Given the description of an element on the screen output the (x, y) to click on. 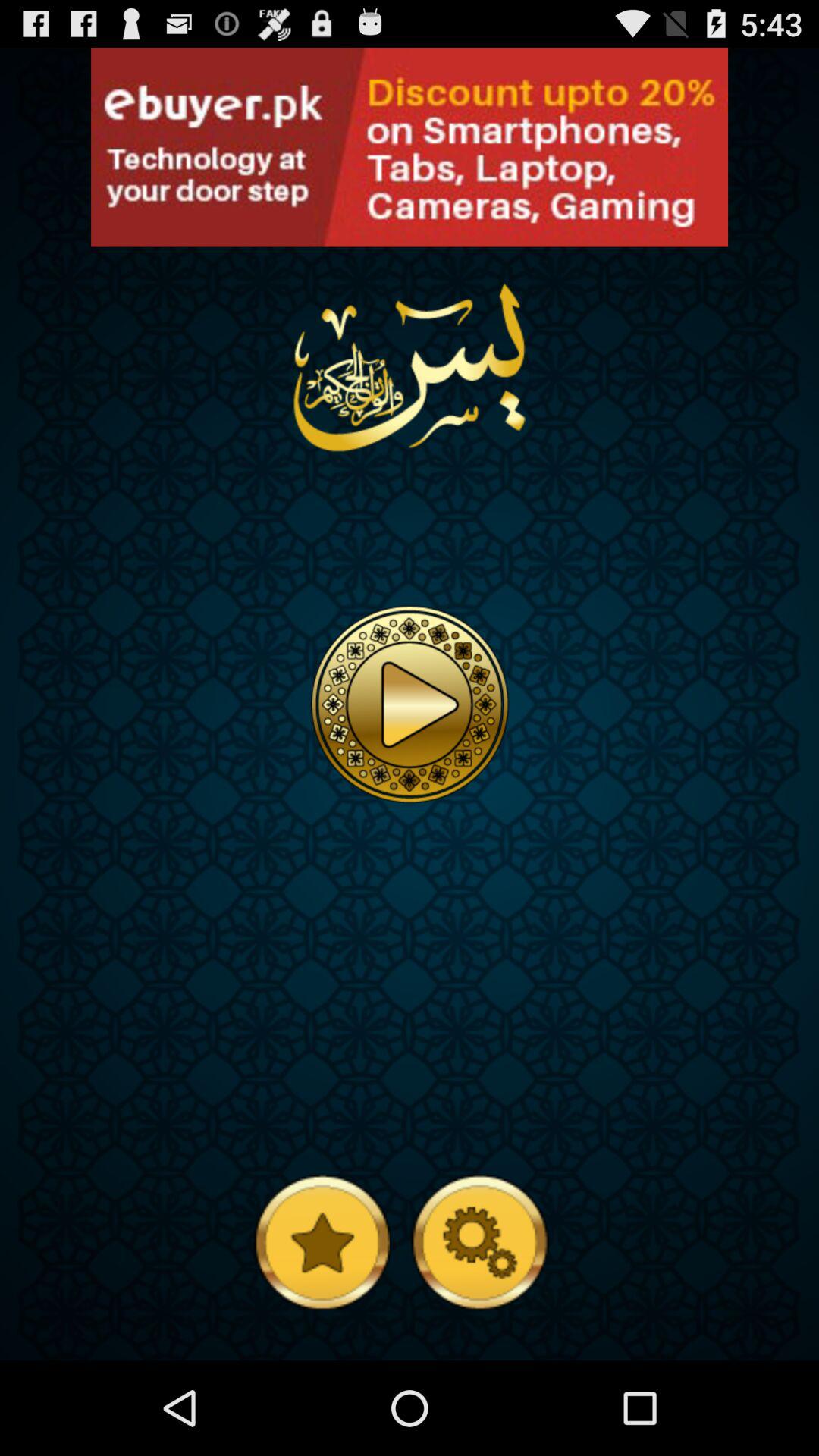
play the file (409, 703)
